Given the description of an element on the screen output the (x, y) to click on. 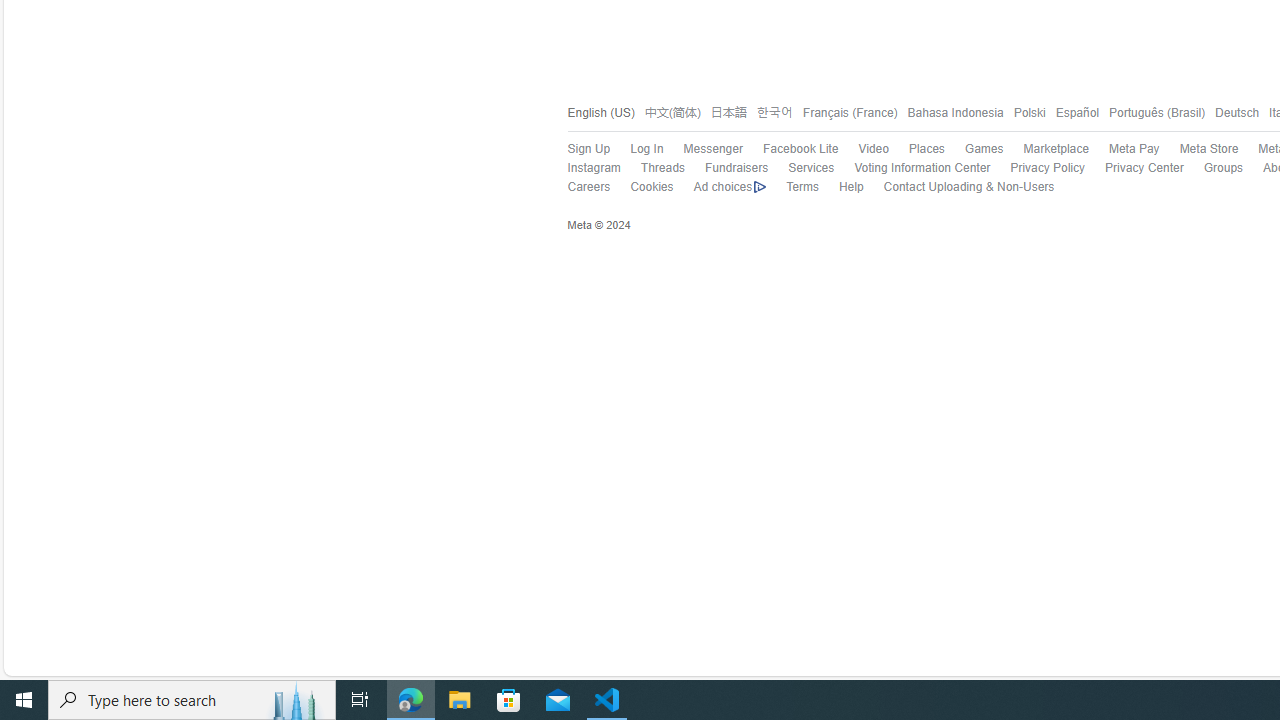
Privacy Policy (1047, 168)
Threads (651, 169)
Groups (1223, 168)
Cookies (651, 187)
